Given the description of an element on the screen output the (x, y) to click on. 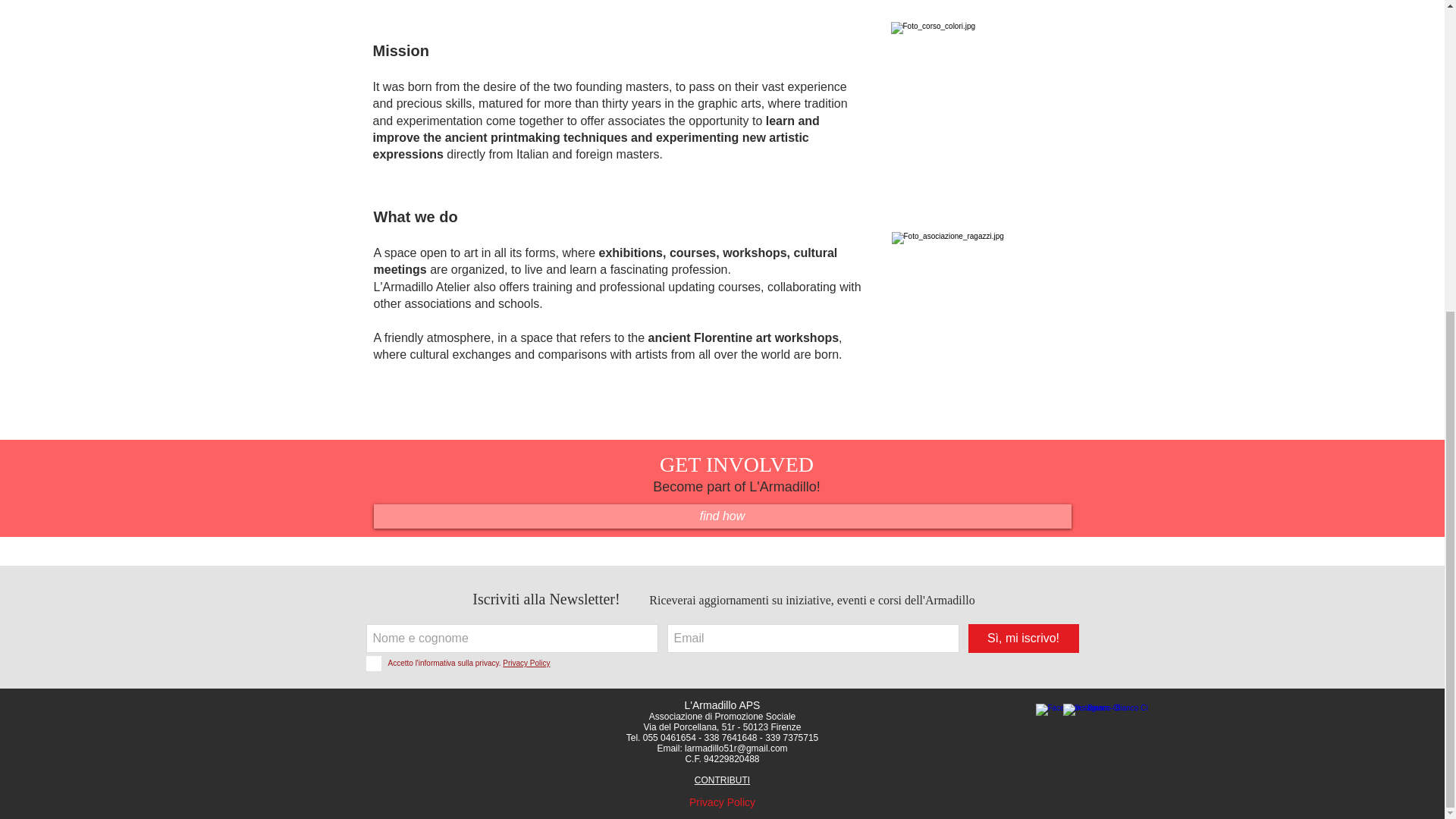
Privacy Policy (526, 663)
find how (721, 516)
CONTRIBUTI (721, 779)
Privacy Policy (721, 802)
